Given the description of an element on the screen output the (x, y) to click on. 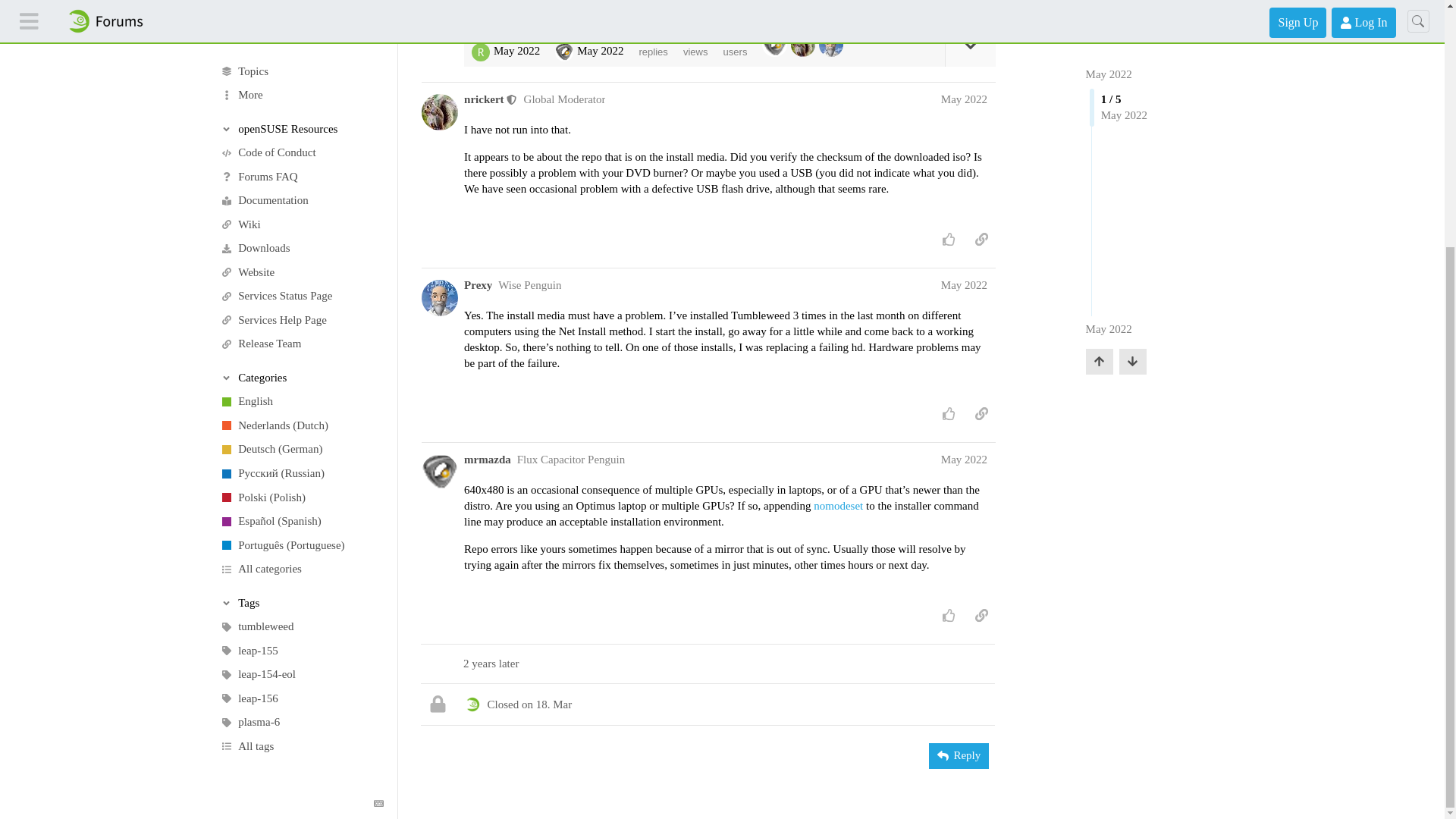
All categories (301, 224)
Toggle section (301, 258)
leap-156 (301, 354)
English (301, 57)
leap-154-eol (301, 330)
All tags (301, 402)
plasma-6 (301, 378)
tumbleweed (301, 282)
Toggle section (301, 32)
Keyboard Shortcuts (378, 459)
leap-155 (301, 306)
Tags (301, 258)
Categories (301, 32)
Release Team (301, 6)
